Given the description of an element on the screen output the (x, y) to click on. 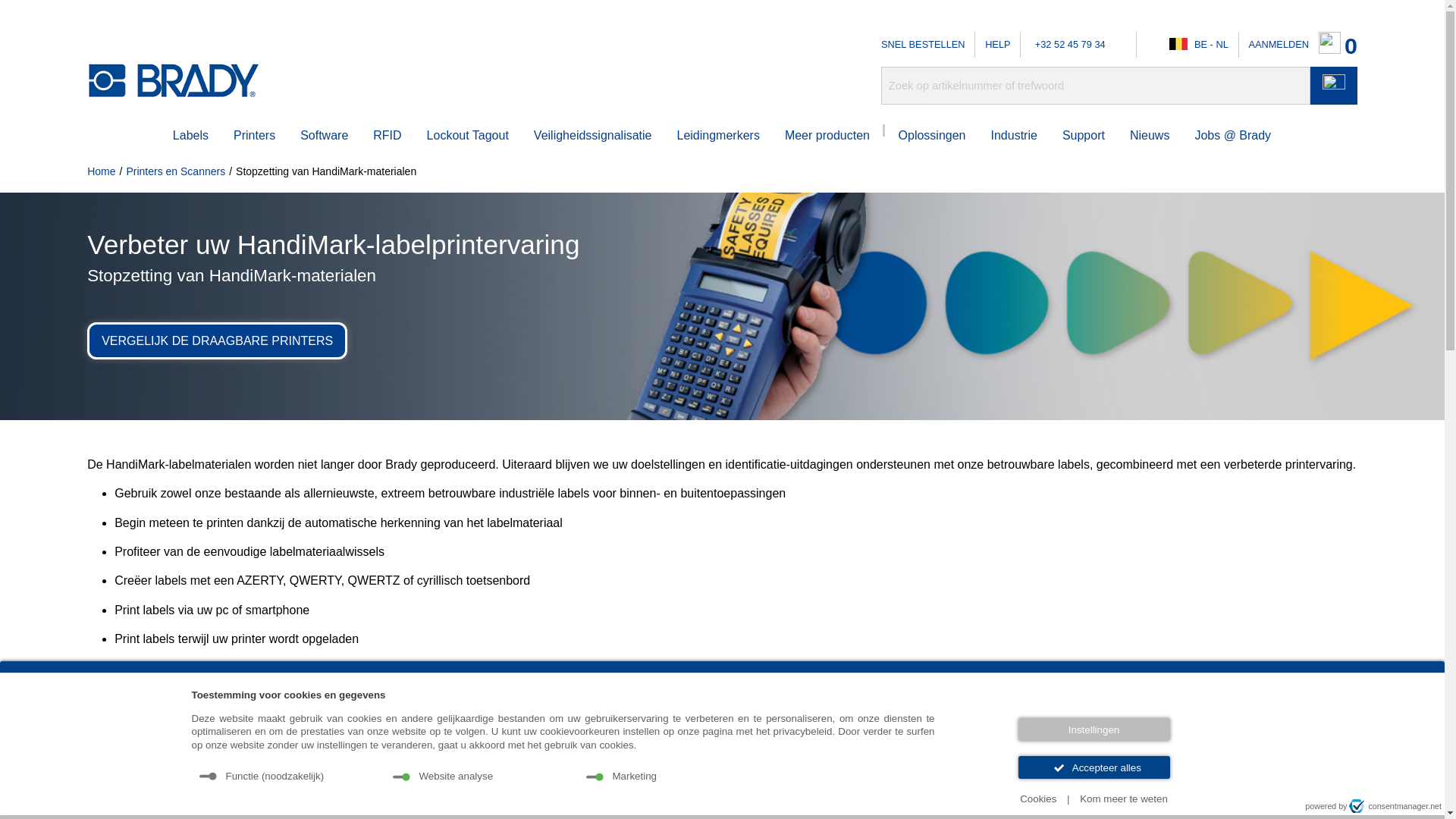
Industrie Element type: text (1013, 135)
SNEL BESTELLEN Element type: text (922, 44)
Meer producten Element type: text (826, 135)
RFID Element type: text (386, 135)
Instellingen Element type: text (1093, 729)
Labels Element type: text (190, 135)
Accepteer alles Element type: text (1093, 767)
+32 52 45 79 34 Element type: text (1066, 43)
SkipNavLinkText Element type: text (39, 23)
Oplossingen Element type: text (932, 135)
Printers en Scanners Element type: text (175, 171)
Printers Element type: text (254, 135)
Cookies Element type: text (1037, 798)
Lockout Tagout Element type: text (467, 135)
Nieuws Element type: text (1149, 135)
Leidingmerkers Element type: text (717, 135)
Support Element type: text (1083, 135)
VERGELIJK DE DRAAGBARE PRINTERS Element type: text (217, 340)
Jobs @ Brady Element type: text (1232, 135)
Software Element type: text (324, 135)
0 Element type: text (1337, 45)
Veiligheidssignalisatie Element type: text (592, 135)
consentmanager.net Element type: text (1395, 805)
Home Element type: text (101, 171)
Kom meer te weten Element type: text (1123, 798)
